Given the description of an element on the screen output the (x, y) to click on. 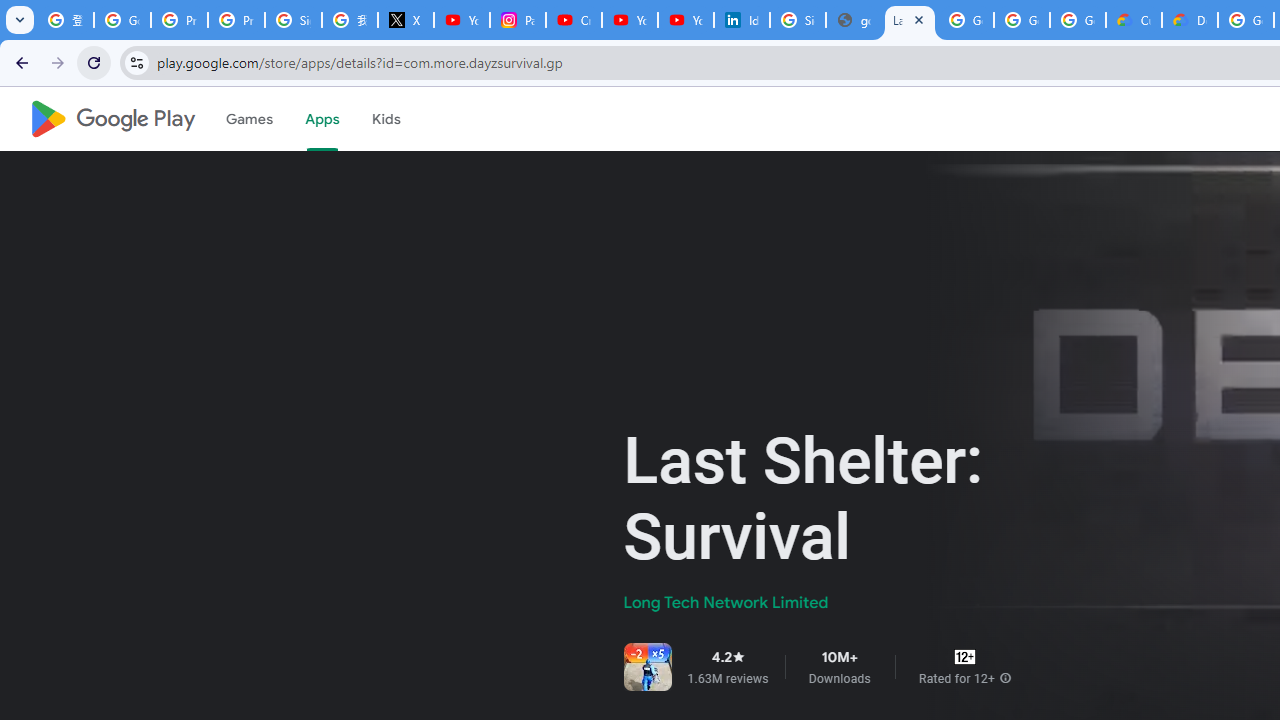
Privacy Help Center - Policies Help (235, 20)
Games (248, 119)
Customer Care | Google Cloud (1133, 20)
Kids (385, 119)
Google Play logo (111, 119)
